Given the description of an element on the screen output the (x, y) to click on. 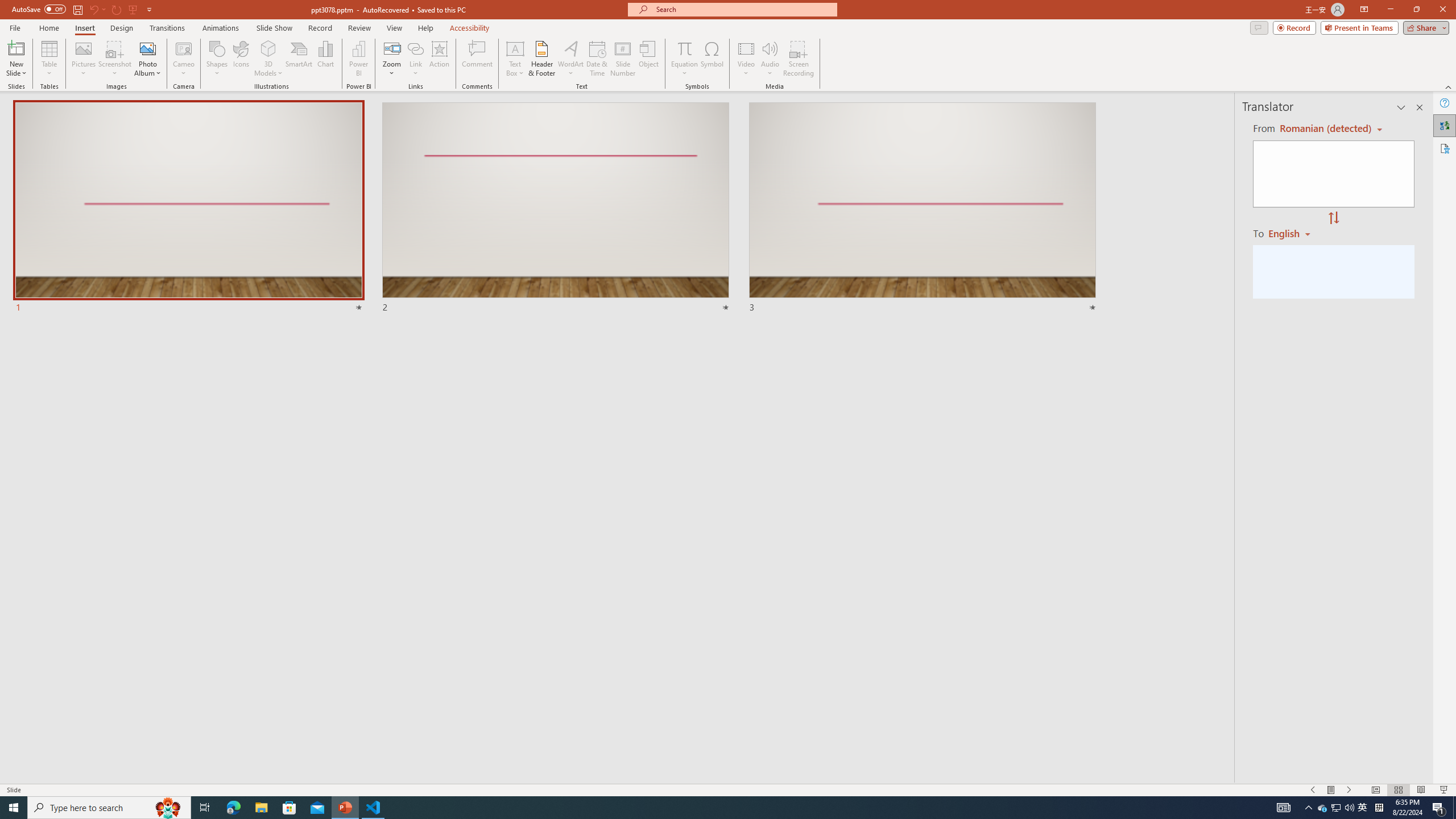
Slide Show Next On (1349, 790)
Slide Number (622, 58)
Menu On (1331, 790)
Object... (649, 58)
Photo Album... (147, 58)
New Photo Album... (147, 48)
